Given the description of an element on the screen output the (x, y) to click on. 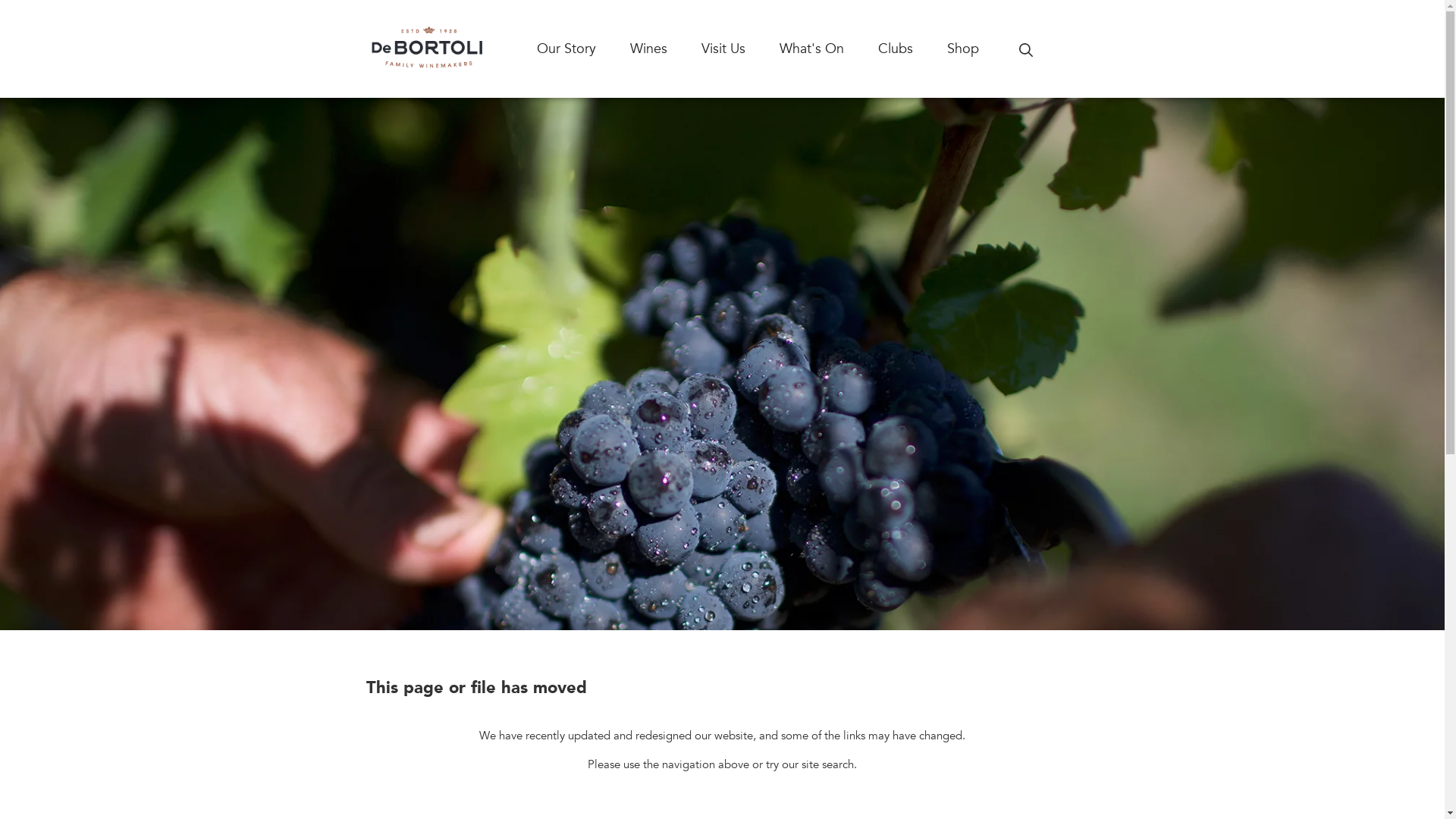
Shop Element type: text (979, 48)
Wines Element type: text (664, 48)
Visit Us Element type: text (739, 48)
Clubs Element type: text (912, 48)
Our Story Element type: text (583, 48)
What's On Element type: text (828, 48)
Home Element type: text (426, 48)
